Given the description of an element on the screen output the (x, y) to click on. 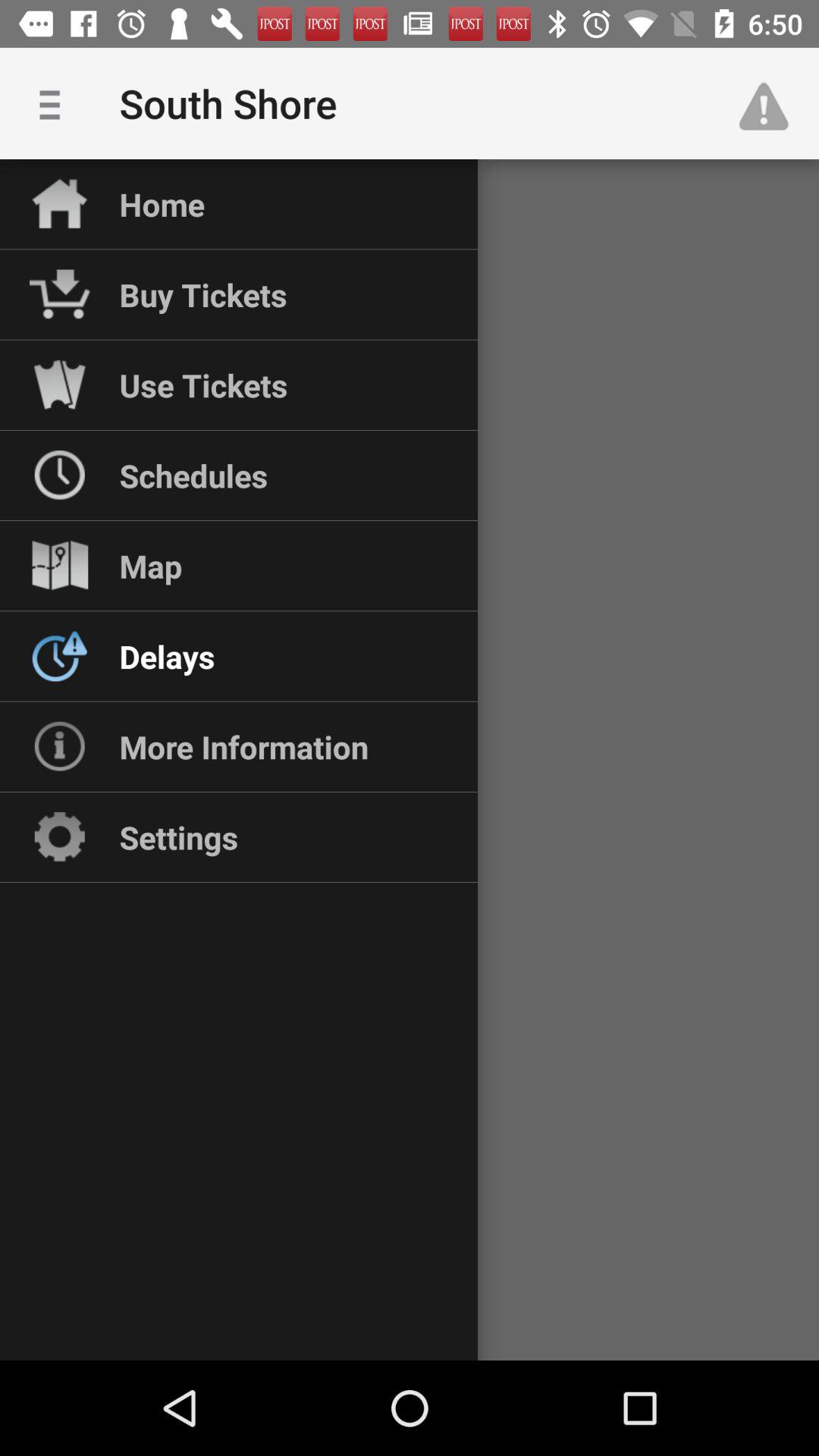
press the map icon (150, 565)
